Given the description of an element on the screen output the (x, y) to click on. 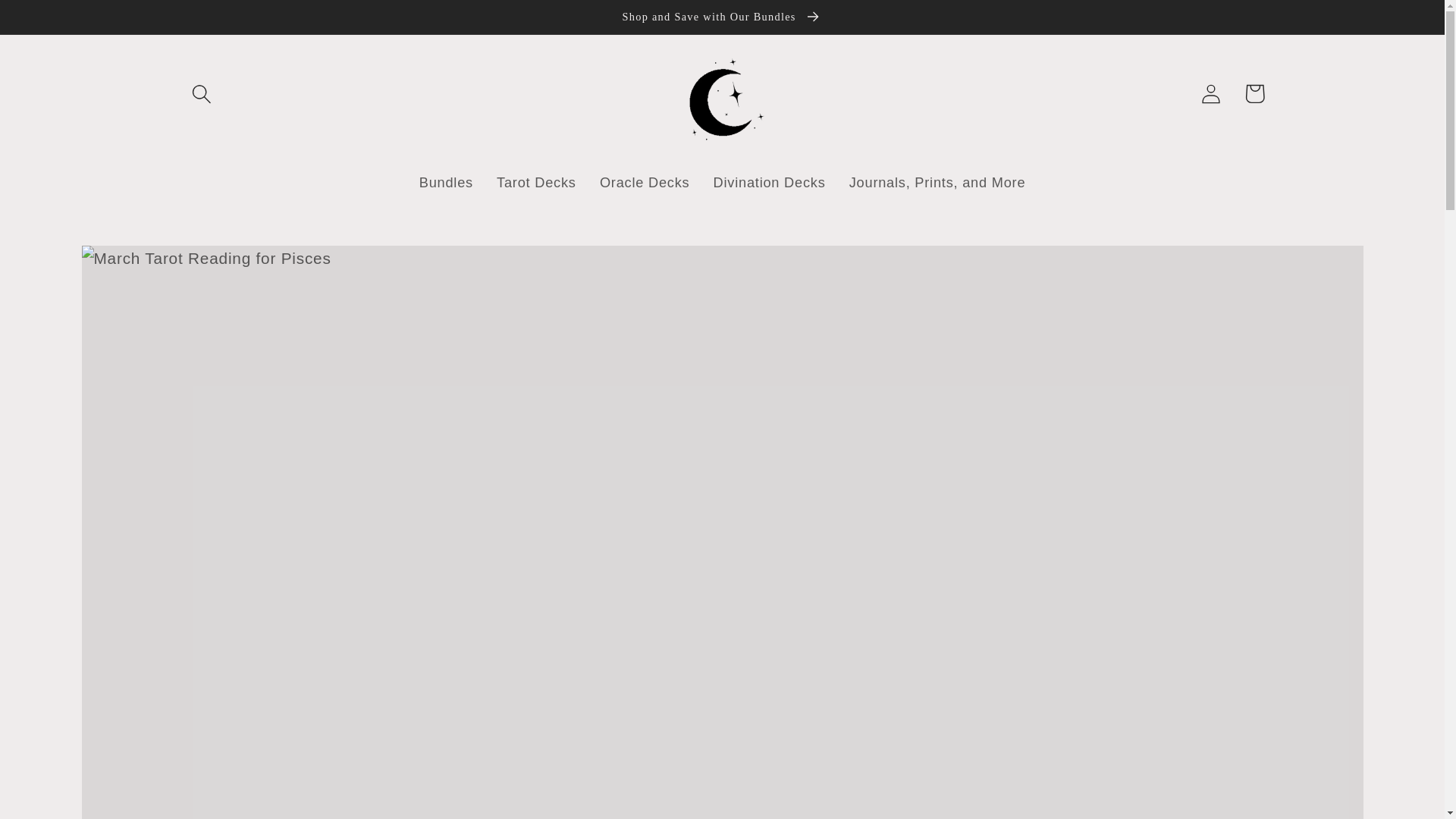
Bundles (445, 182)
Cart (1254, 93)
Log in (1211, 93)
Skip to content (59, 22)
Journals, Prints, and More (936, 182)
Divination Decks (769, 182)
Oracle Decks (644, 182)
Tarot Decks (536, 182)
